Given the description of an element on the screen output the (x, y) to click on. 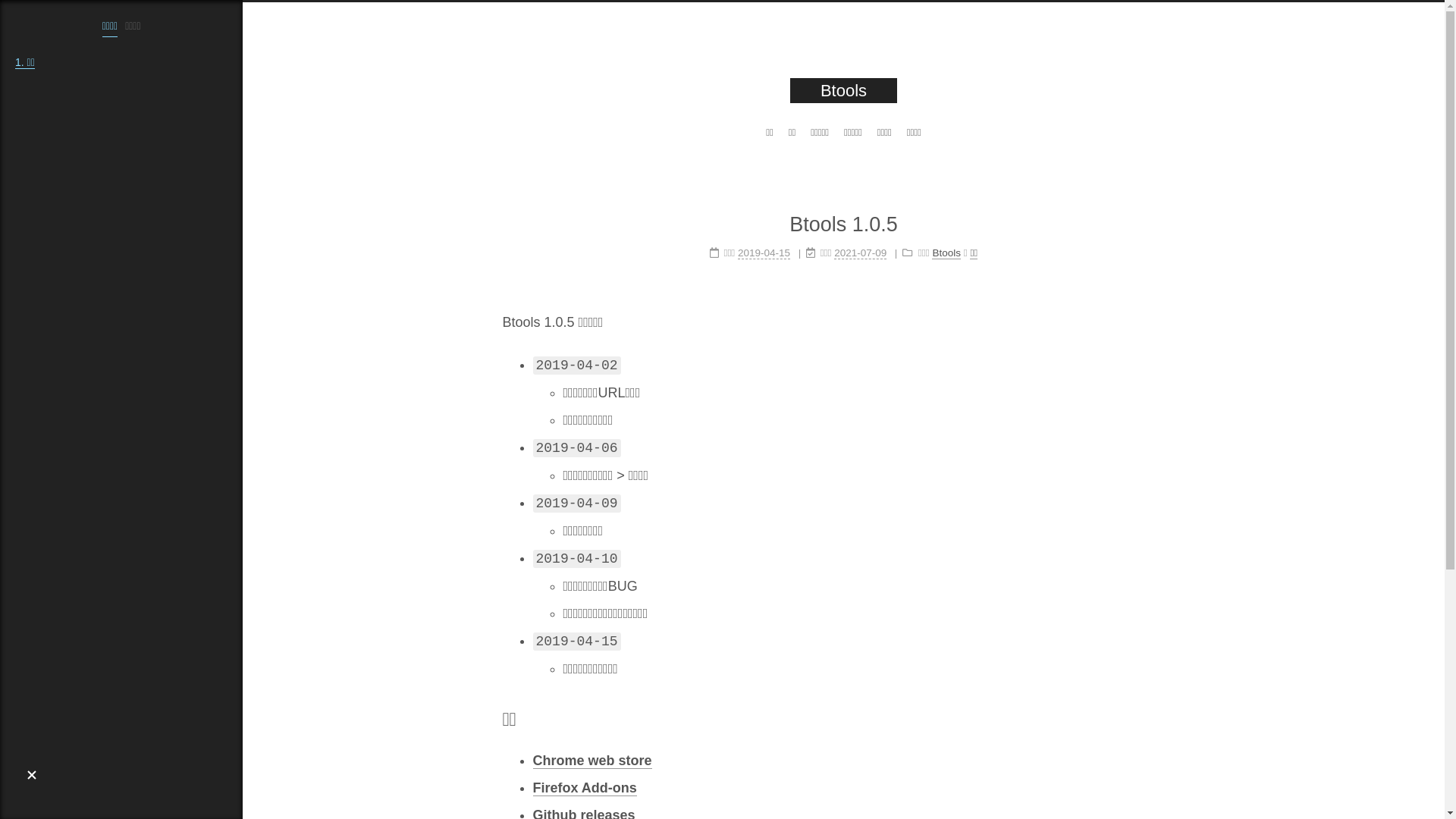
Btools Element type: text (945, 253)
Chrome web store Element type: text (591, 760)
Firefox Add-ons Element type: text (584, 788)
Btools Element type: text (843, 90)
